Given the description of an element on the screen output the (x, y) to click on. 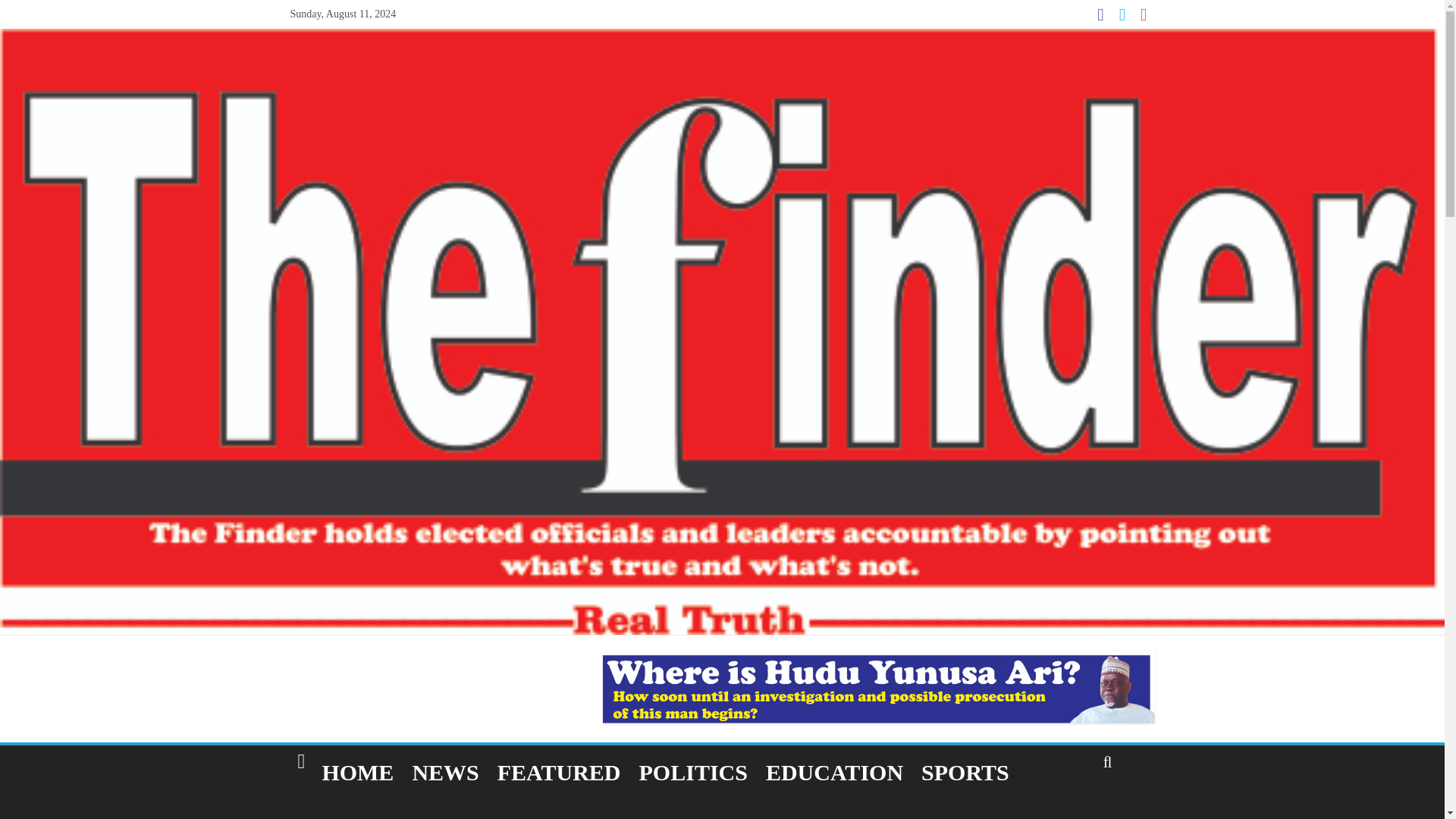
HOME (358, 772)
EDUCATION (834, 772)
NEWS (445, 772)
SPORTS (964, 772)
FEATURED (558, 772)
SUBMIT A STORY (394, 809)
POLITICS (693, 772)
